Given the description of an element on the screen output the (x, y) to click on. 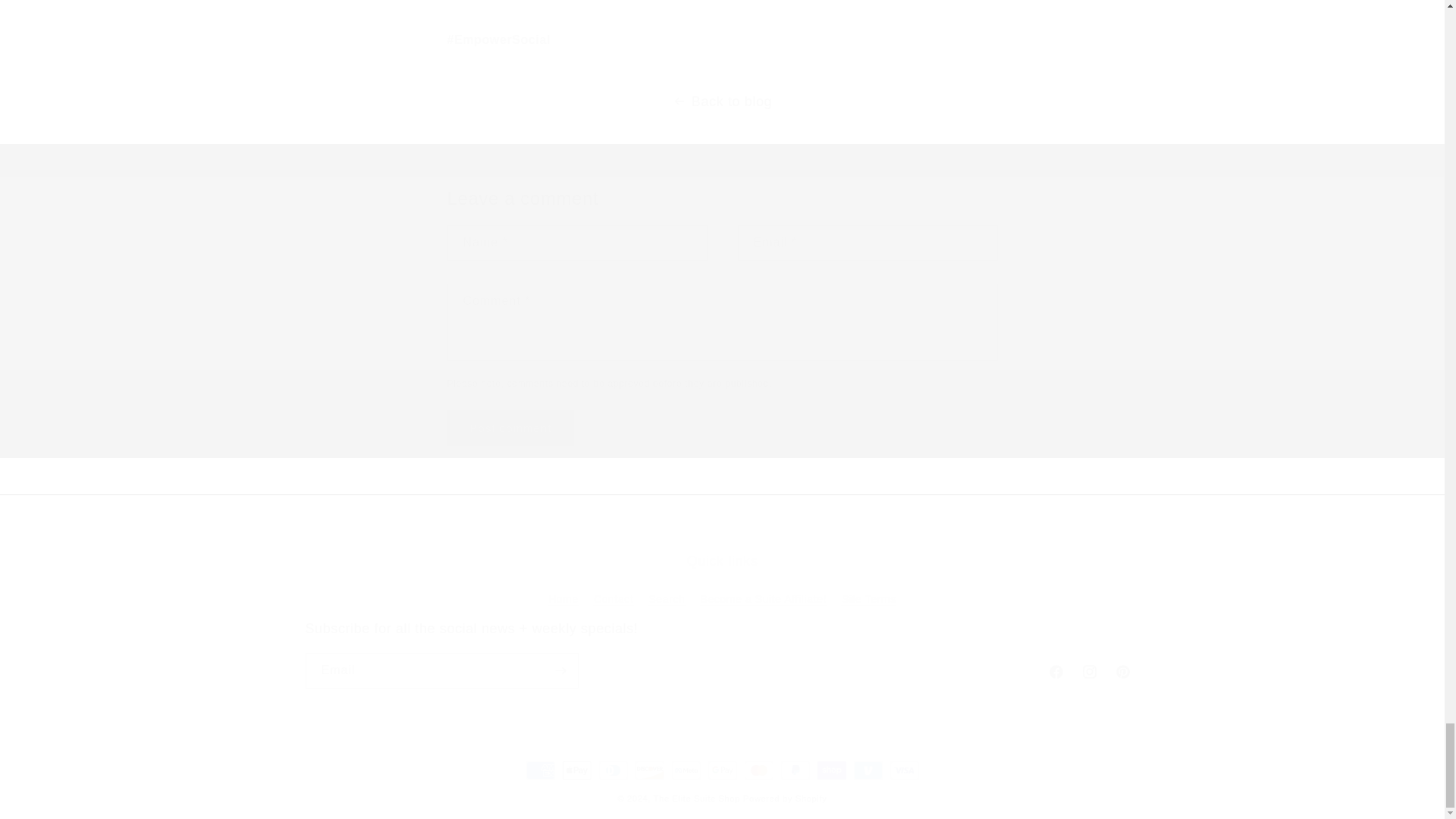
Post comment (510, 427)
